Given the description of an element on the screen output the (x, y) to click on. 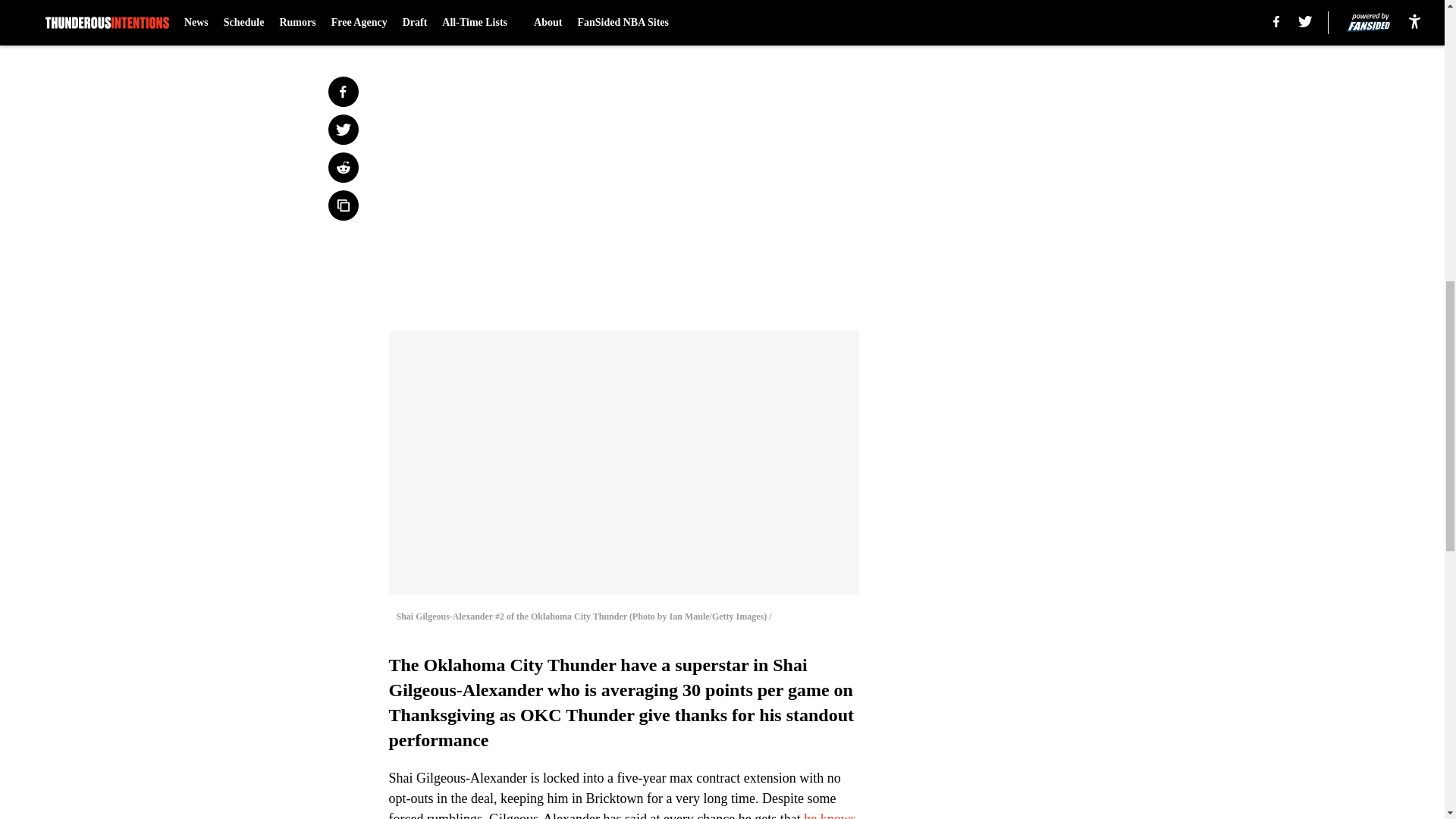
Next (813, 20)
Prev (433, 20)
